Given the description of an element on the screen output the (x, y) to click on. 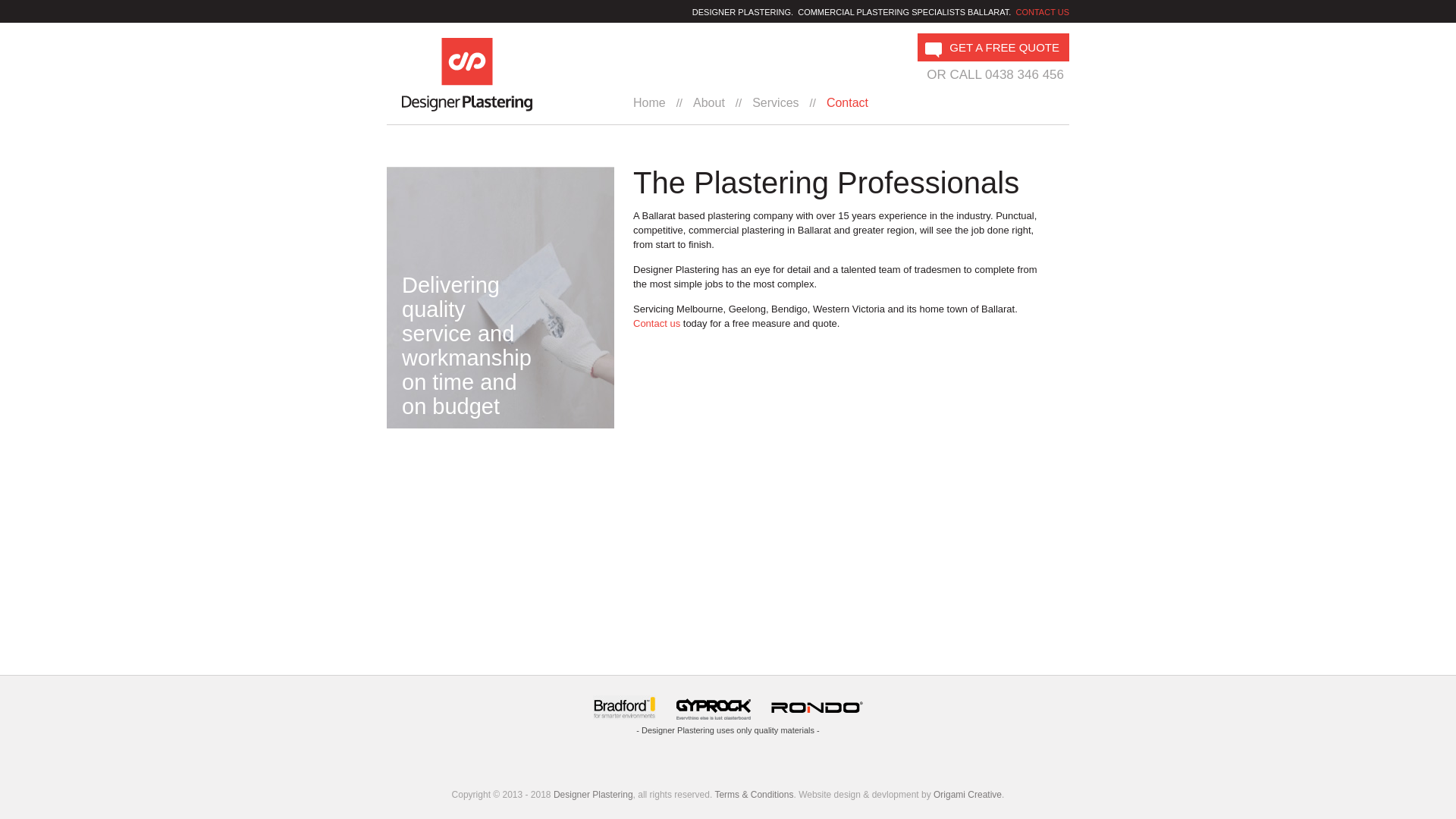
CONTACT US Element type: text (1043, 11)
Origami Creative Element type: text (967, 794)
GET A FREE QUOTE Element type: text (993, 47)
About Element type: text (708, 102)
Terms & Conditions Element type: text (753, 794)
Contact us Element type: text (656, 323)
Designer Plastering Element type: text (593, 794)
Home Element type: text (652, 102)
Contact Element type: text (847, 102)
Services Element type: text (775, 102)
